Given the description of an element on the screen output the (x, y) to click on. 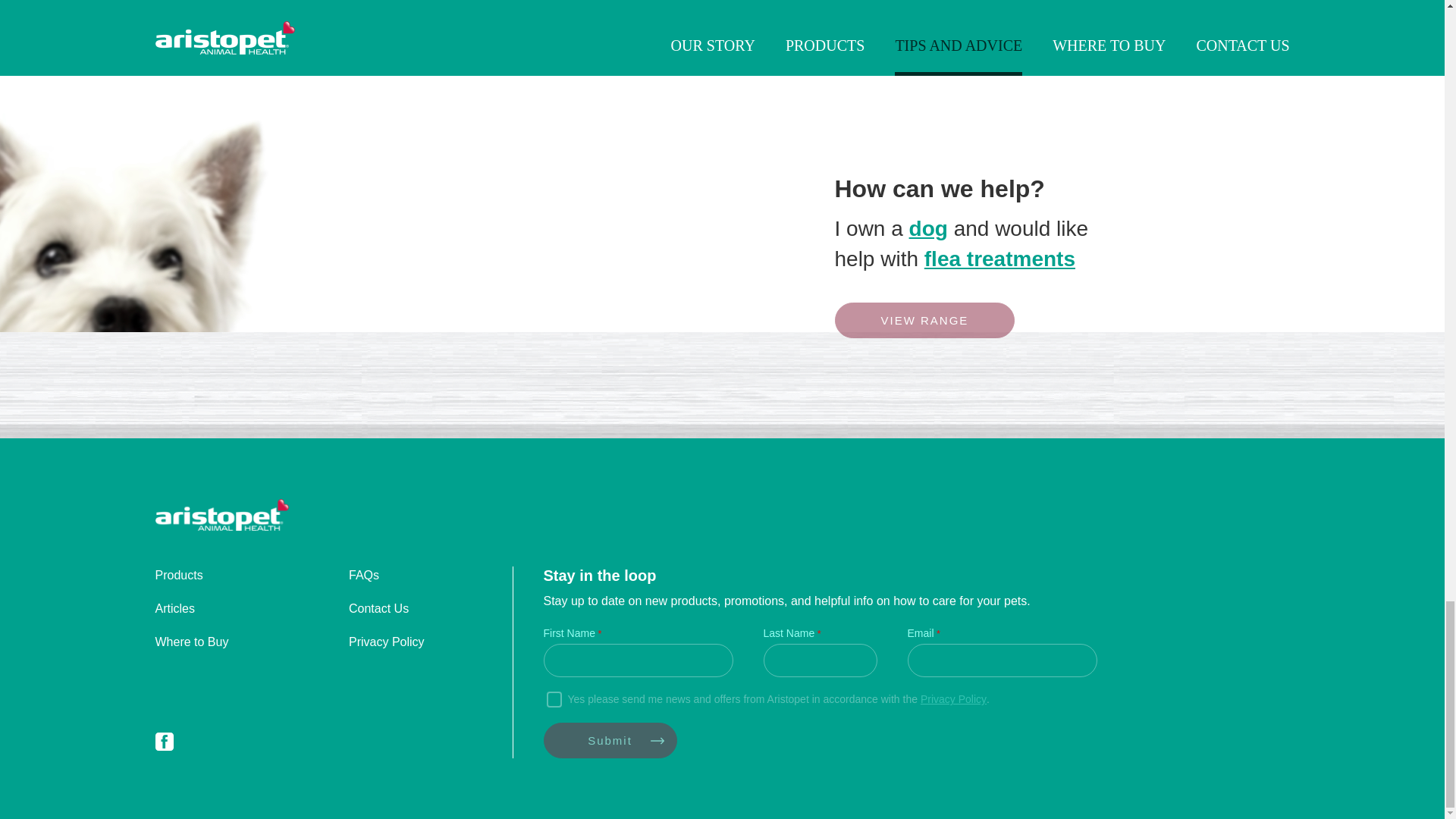
flea treatments (999, 259)
FAQs (363, 574)
Submit (610, 740)
Articles (173, 608)
dog (927, 228)
VIEW RANGE (924, 320)
Products (178, 574)
Where to Buy (191, 641)
